Given the description of an element on the screen output the (x, y) to click on. 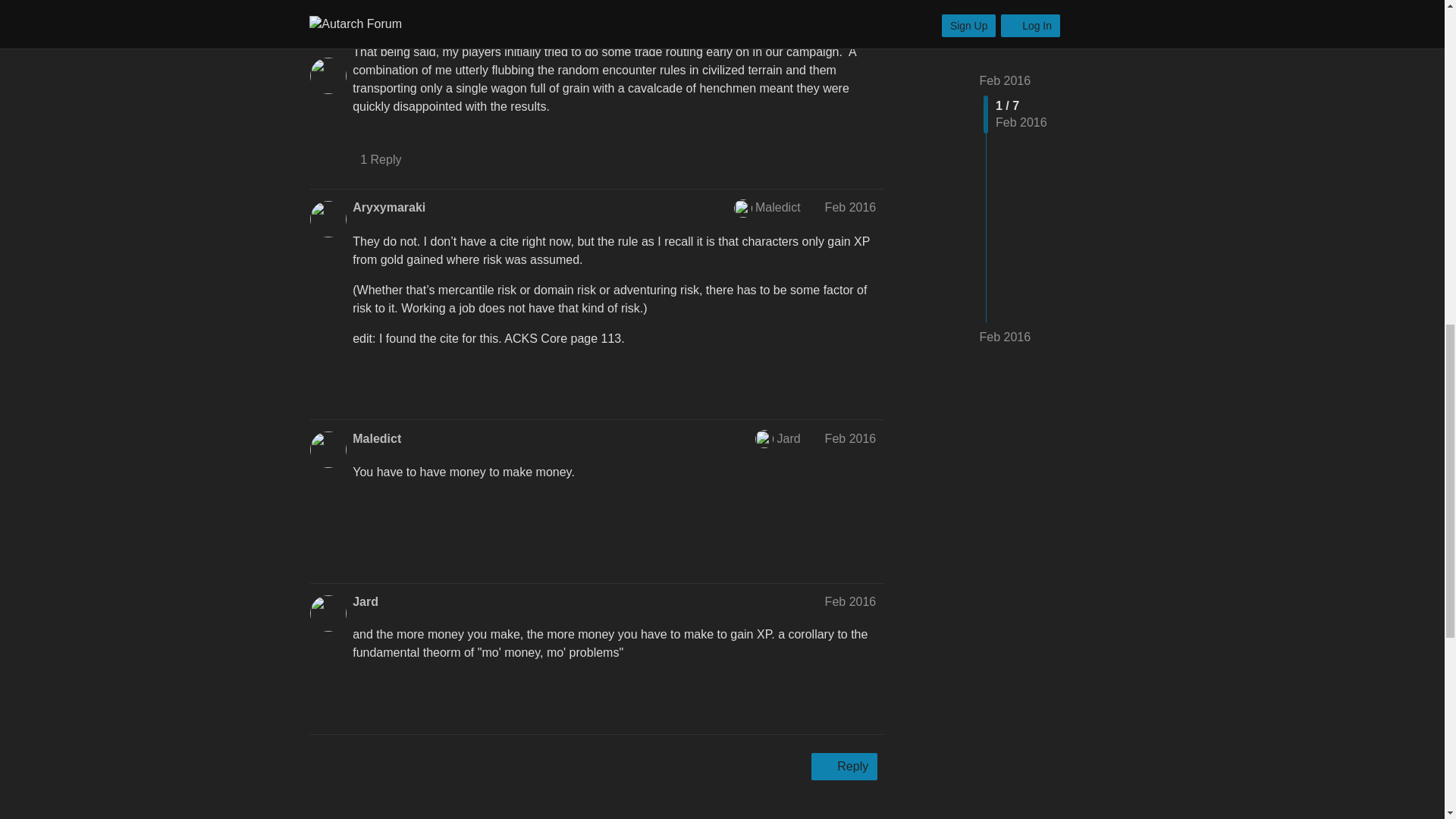
Aryxymaraki (388, 207)
Feb 2016 (850, 206)
Maledict (759, 208)
1 Reply (387, 159)
